Given the description of an element on the screen output the (x, y) to click on. 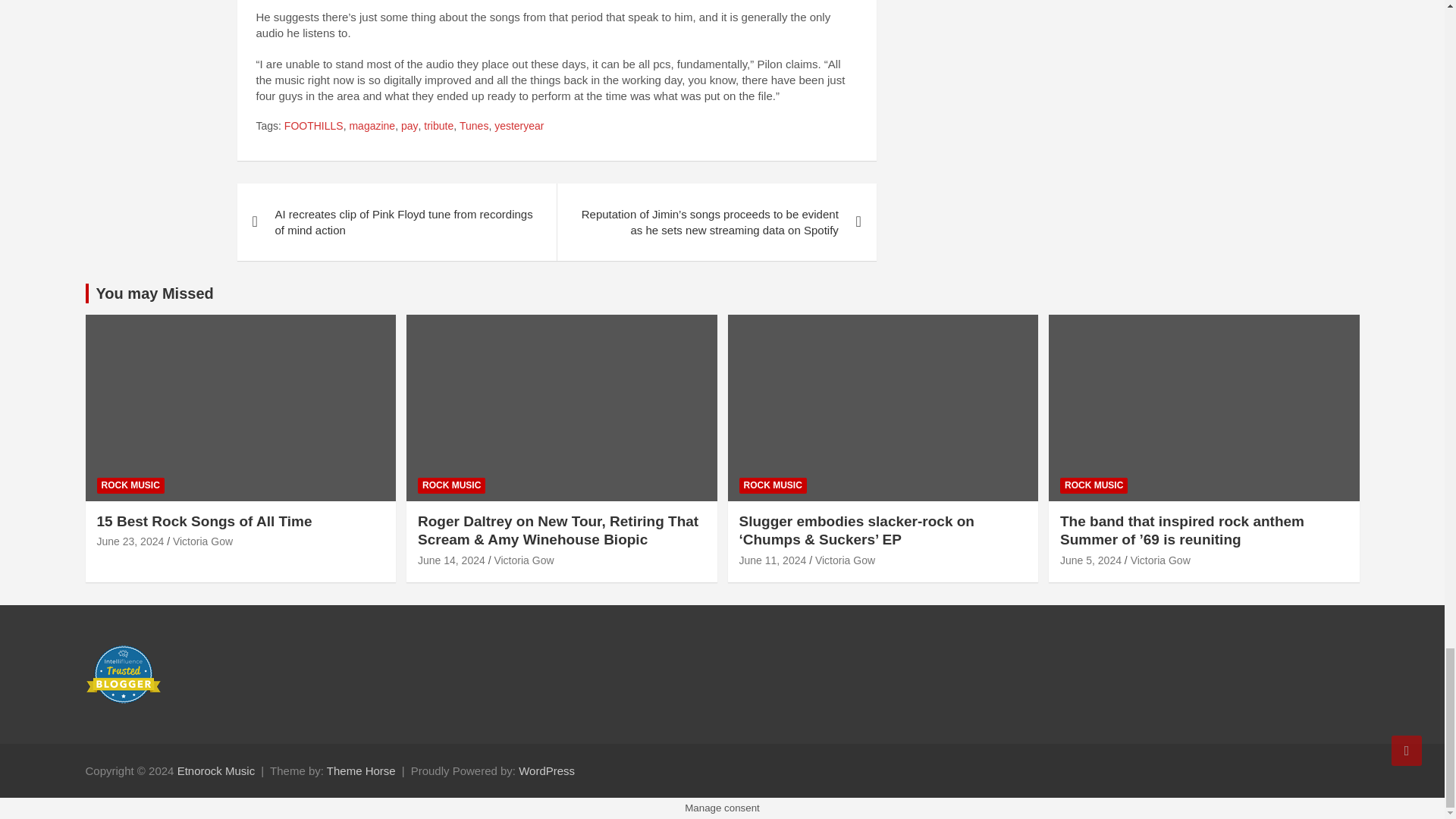
15 Best Rock Songs of All Time (130, 541)
ROCK MUSIC (772, 485)
Etnorock Music (216, 770)
June 14, 2024 (450, 560)
pay (410, 126)
Tunes (473, 126)
Theme Horse (361, 770)
tribute (437, 126)
ROCK MUSIC (130, 485)
Victoria Gow (523, 560)
magazine (371, 126)
You may Missed (154, 293)
ROCK MUSIC (450, 485)
yesteryear (519, 126)
